Given the description of an element on the screen output the (x, y) to click on. 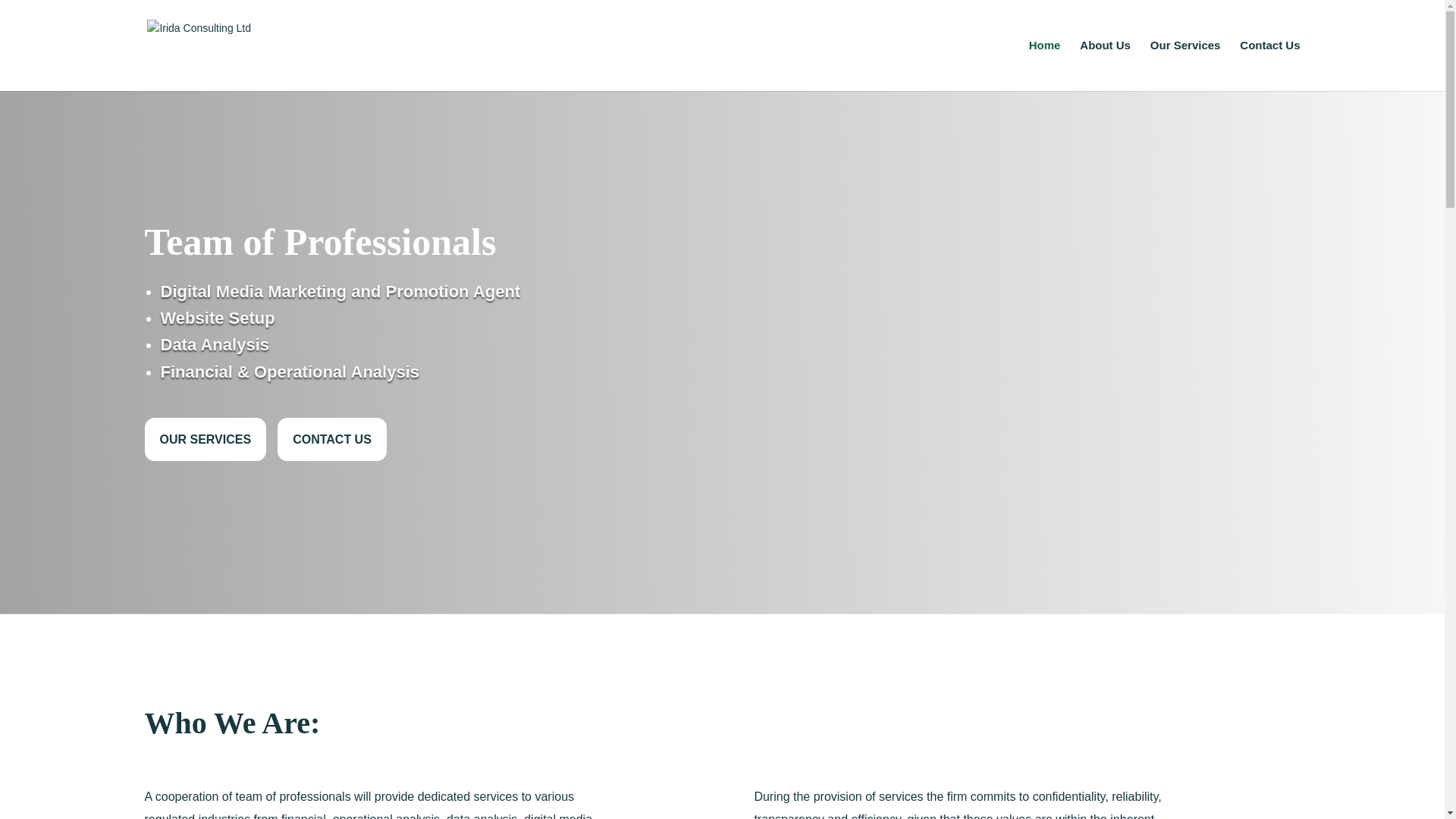
Our Services (1185, 65)
CONTACT US (332, 439)
OUR SERVICES (205, 439)
Website Setup (217, 317)
Contact Us (1270, 65)
Data Analysis (214, 343)
Digital Media Marketing and Promotion Agent (340, 291)
About Us (1105, 65)
